Given the description of an element on the screen output the (x, y) to click on. 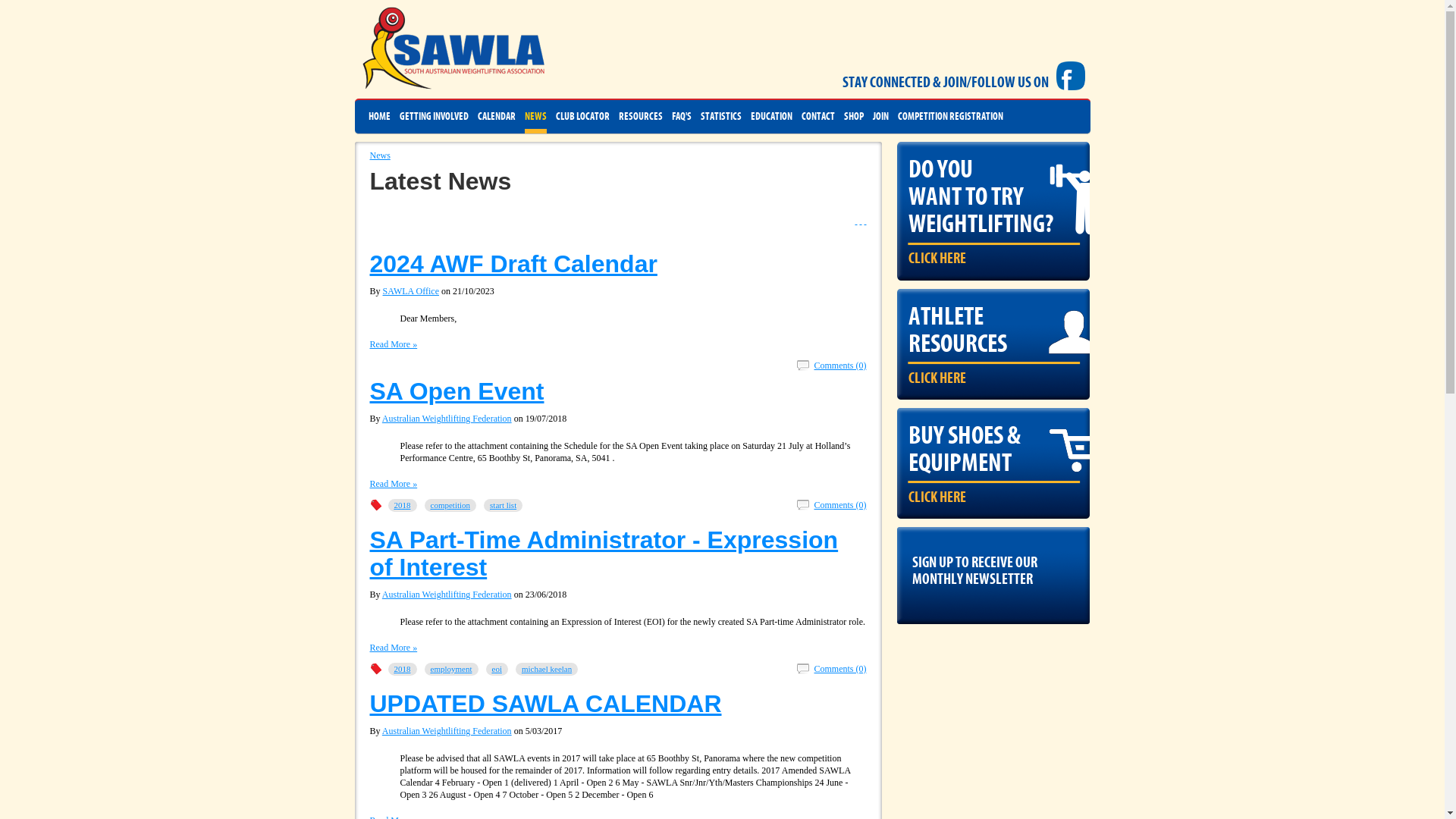
CLUB LOCATOR Element type: text (581, 116)
CONTACT Element type: text (817, 116)
2024 AWF Draft Calendar Element type: text (513, 263)
Home Element type: hover (856, 220)
Australian Weightlifting Federation Element type: text (446, 730)
2018 Element type: text (402, 668)
SHOP Element type: text (852, 116)
eoi Element type: text (496, 668)
Search Element type: hover (865, 220)
HOME Element type: text (379, 116)
employment Element type: text (451, 668)
SA Part-Time Administrator - Expression of Interest Element type: text (604, 553)
Comments (0) Element type: text (831, 365)
RESOURCES Element type: text (640, 116)
JOIN Element type: text (880, 116)
Comments (0) Element type: text (831, 668)
michael keelan Element type: text (546, 668)
CLICK HERE Element type: text (937, 378)
Comments (0) Element type: text (831, 504)
competition Element type: text (450, 504)
start list Element type: text (502, 504)
CLICK HERE Element type: text (937, 497)
RSS Element type: hover (860, 220)
COMPETITION REGISTRATION Element type: text (950, 116)
2018 Element type: text (402, 504)
CALENDAR Element type: text (496, 116)
News Element type: text (380, 155)
NEWS Element type: text (535, 116)
SAWLA Office Element type: text (410, 290)
  Element type: text (860, 220)
  Element type: text (856, 220)
SA Open Event Element type: text (457, 390)
  Element type: text (865, 220)
FAQ'S Element type: text (681, 116)
STATISTICS Element type: text (720, 116)
SIGN UP TO RECEIVE OUR MONTHLY NEWSLETTER Element type: text (992, 567)
Australian Weightlifting Federation Element type: text (446, 418)
EDUCATION Element type: text (771, 116)
Australian Weightlifting Federation Element type: text (446, 594)
UPDATED SAWLA CALENDAR Element type: text (545, 703)
CLICK HERE Element type: text (937, 258)
